Given the description of an element on the screen output the (x, y) to click on. 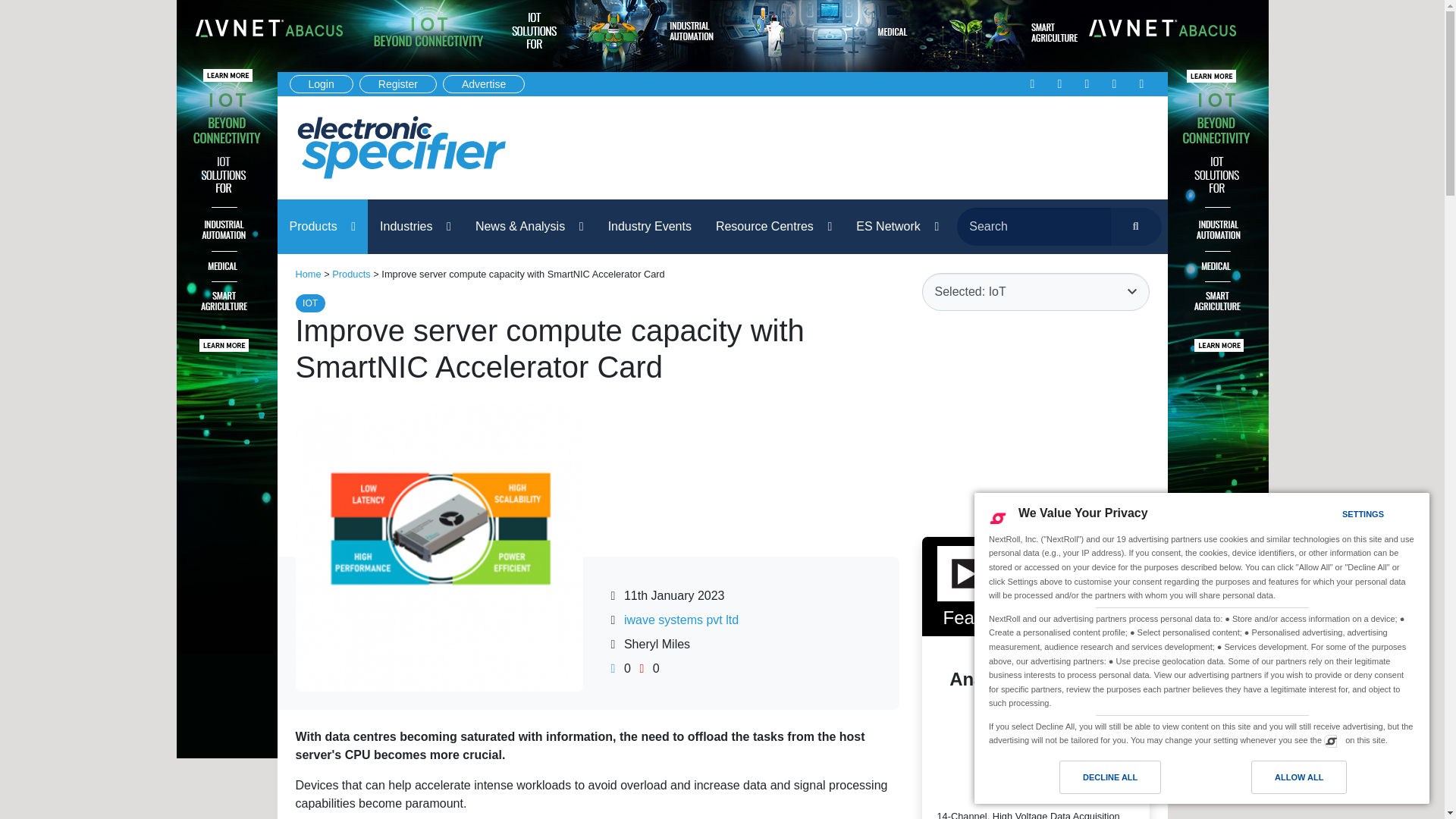
Login (321, 84)
Manage consent preferences (1330, 740)
Products (323, 226)
3rd party ad content (874, 147)
Advertise (483, 84)
3rd party ad content (1035, 423)
Register (397, 84)
